Given the description of an element on the screen output the (x, y) to click on. 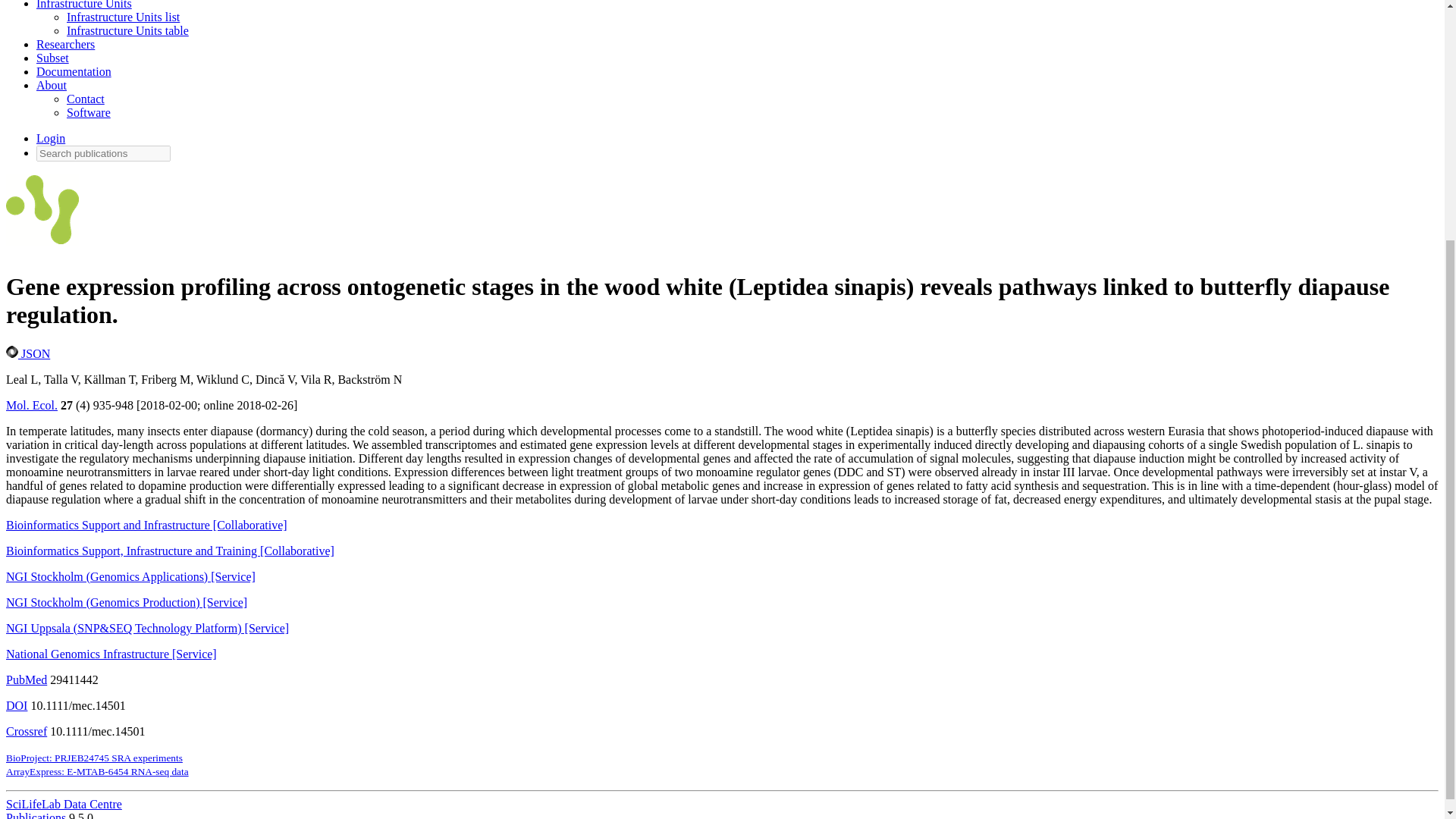
SciLifeLab Infrastructure Units Publications (41, 213)
Login (50, 137)
Infrastructure Units list (122, 16)
About (51, 84)
Software (88, 112)
Subset (52, 57)
Mol. Ecol. (31, 404)
JSON (27, 353)
Infrastructure Units table (127, 30)
Infrastructure Units (84, 4)
